Given the description of an element on the screen output the (x, y) to click on. 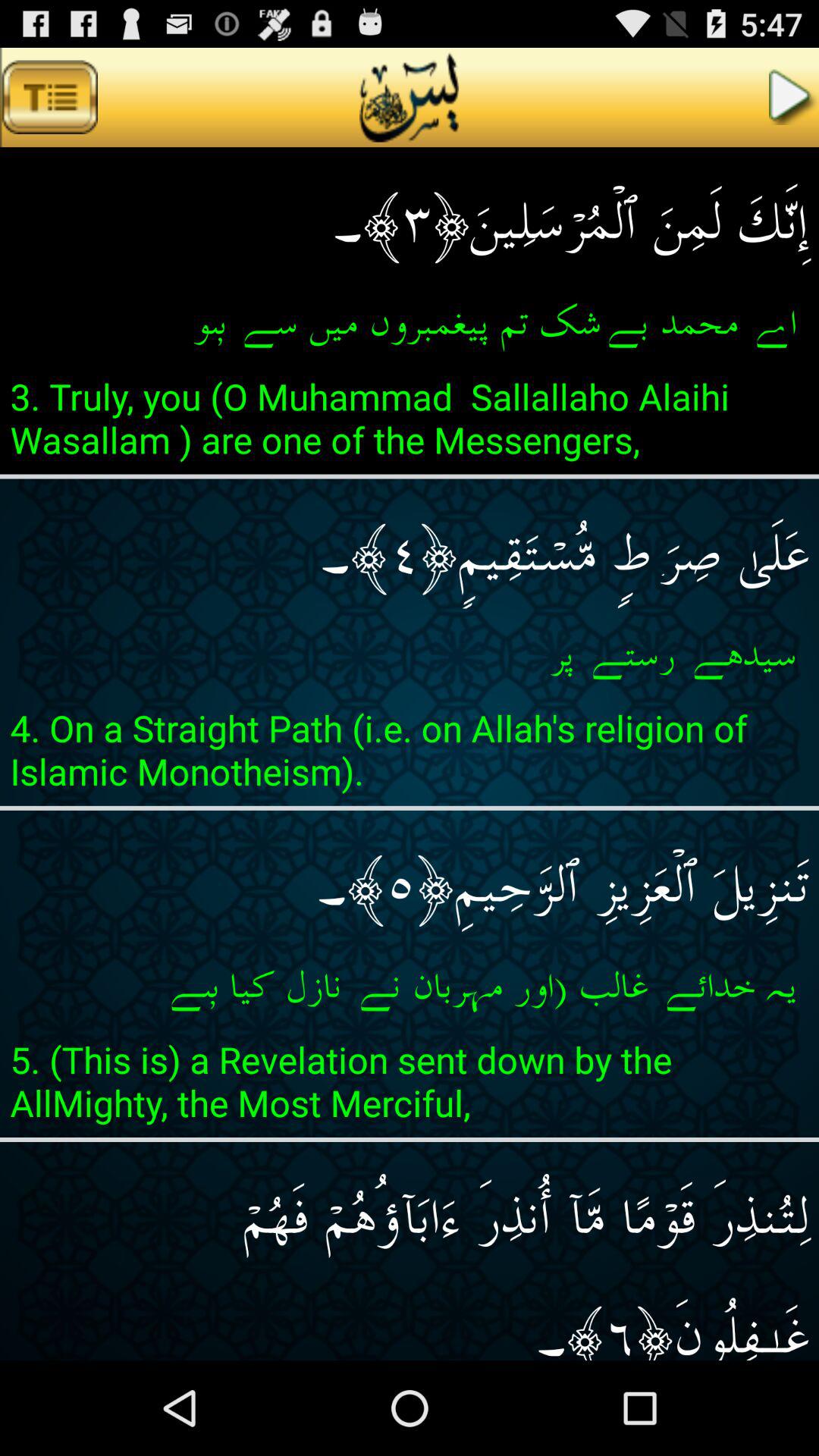
click item above 4 on a icon (409, 655)
